Given the description of an element on the screen output the (x, y) to click on. 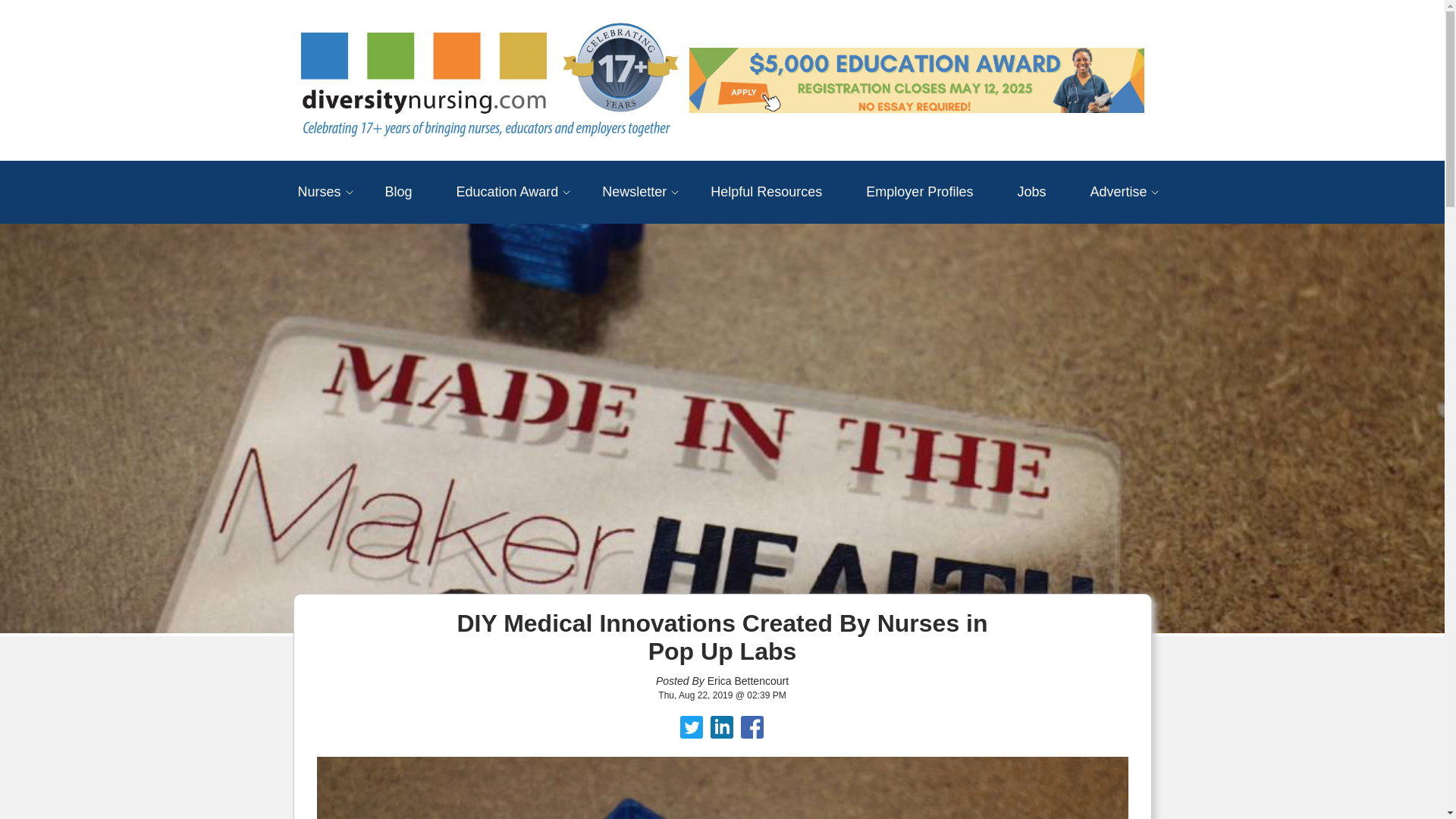
Advertise (1118, 191)
Nurses (318, 191)
Employer Profiles (919, 191)
Helpful Resources (766, 191)
Education Award (508, 191)
Newsletter (634, 191)
